Given the description of an element on the screen output the (x, y) to click on. 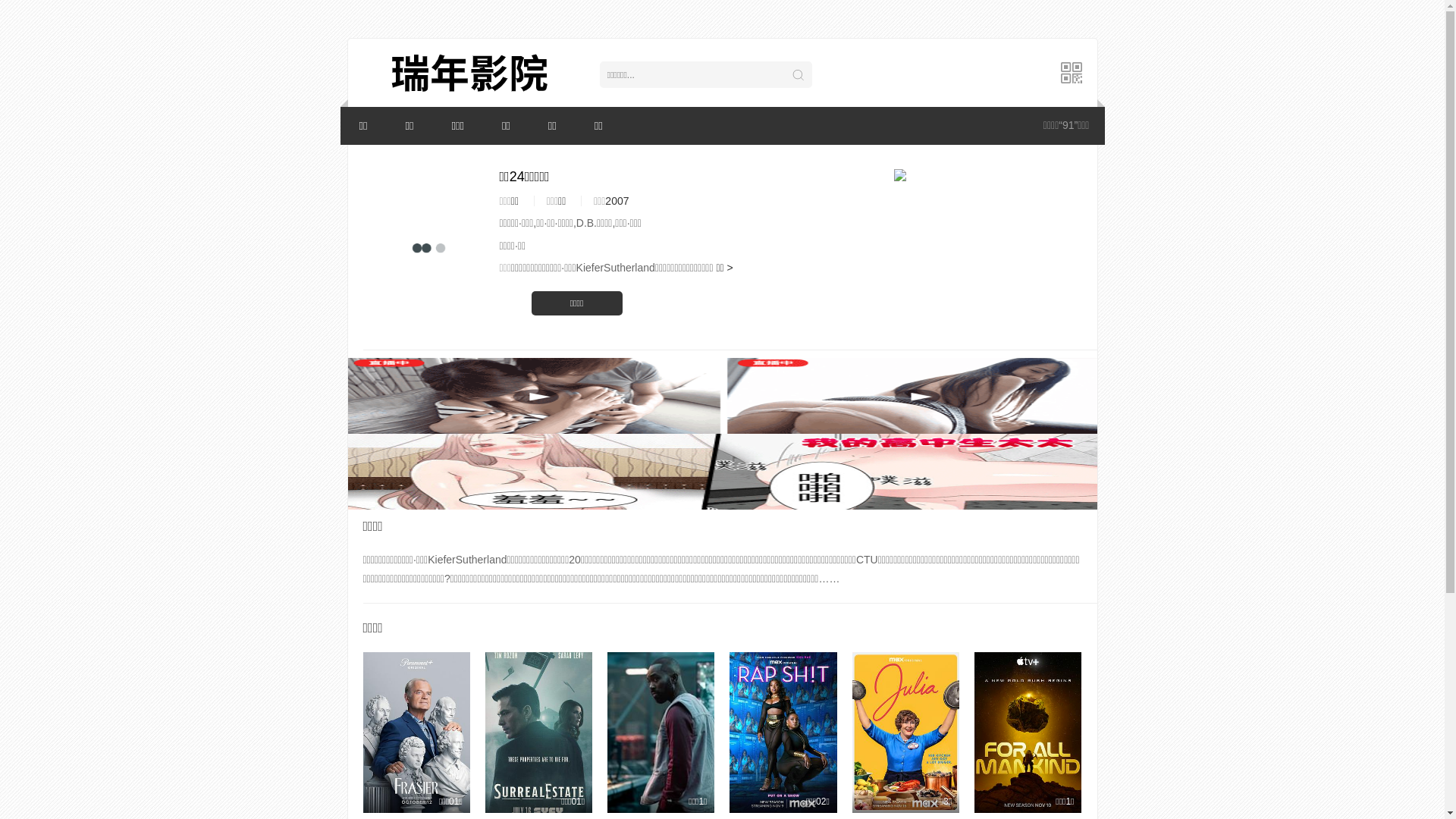
2007 Element type: text (616, 200)
